Given the description of an element on the screen output the (x, y) to click on. 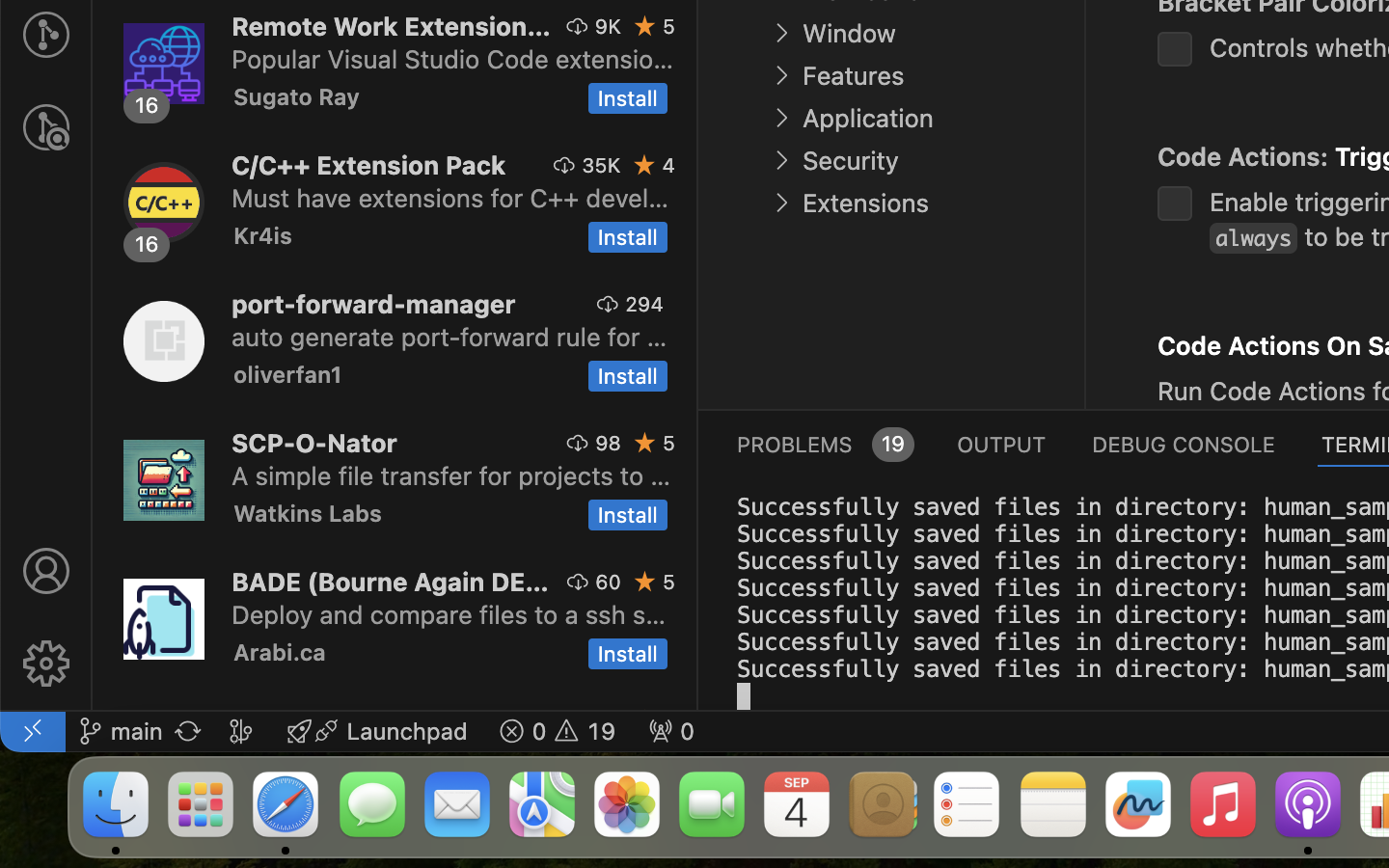
Application Element type: AXStaticText (867, 118)
 Element type: AXGroup (46, 570)
Extensions Element type: AXStaticText (865, 203)
Arabi.ca Element type: AXStaticText (279, 651)
Kr4is Element type: AXStaticText (263, 234)
